Given the description of an element on the screen output the (x, y) to click on. 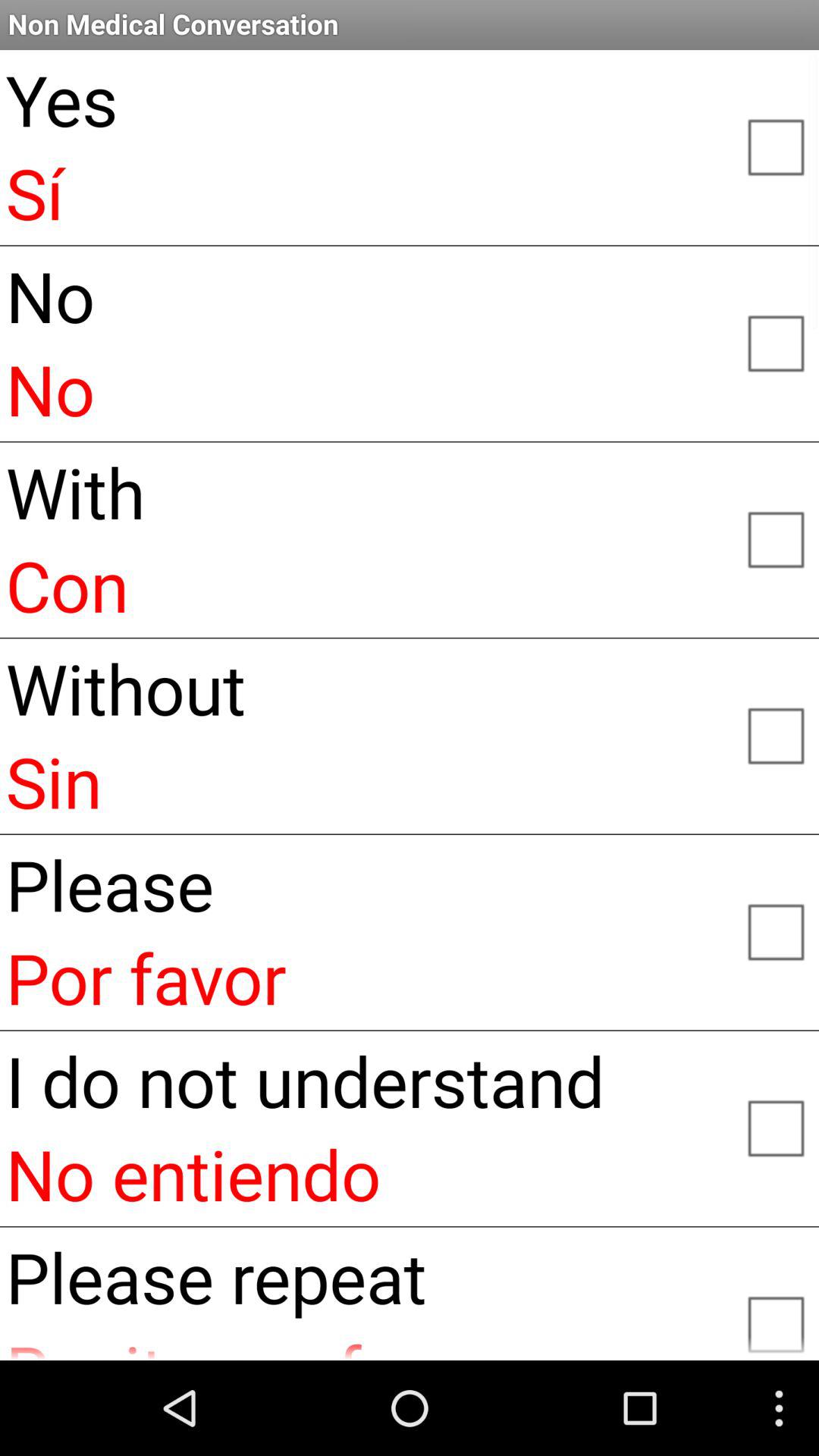
mark done (775, 930)
